Given the description of an element on the screen output the (x, y) to click on. 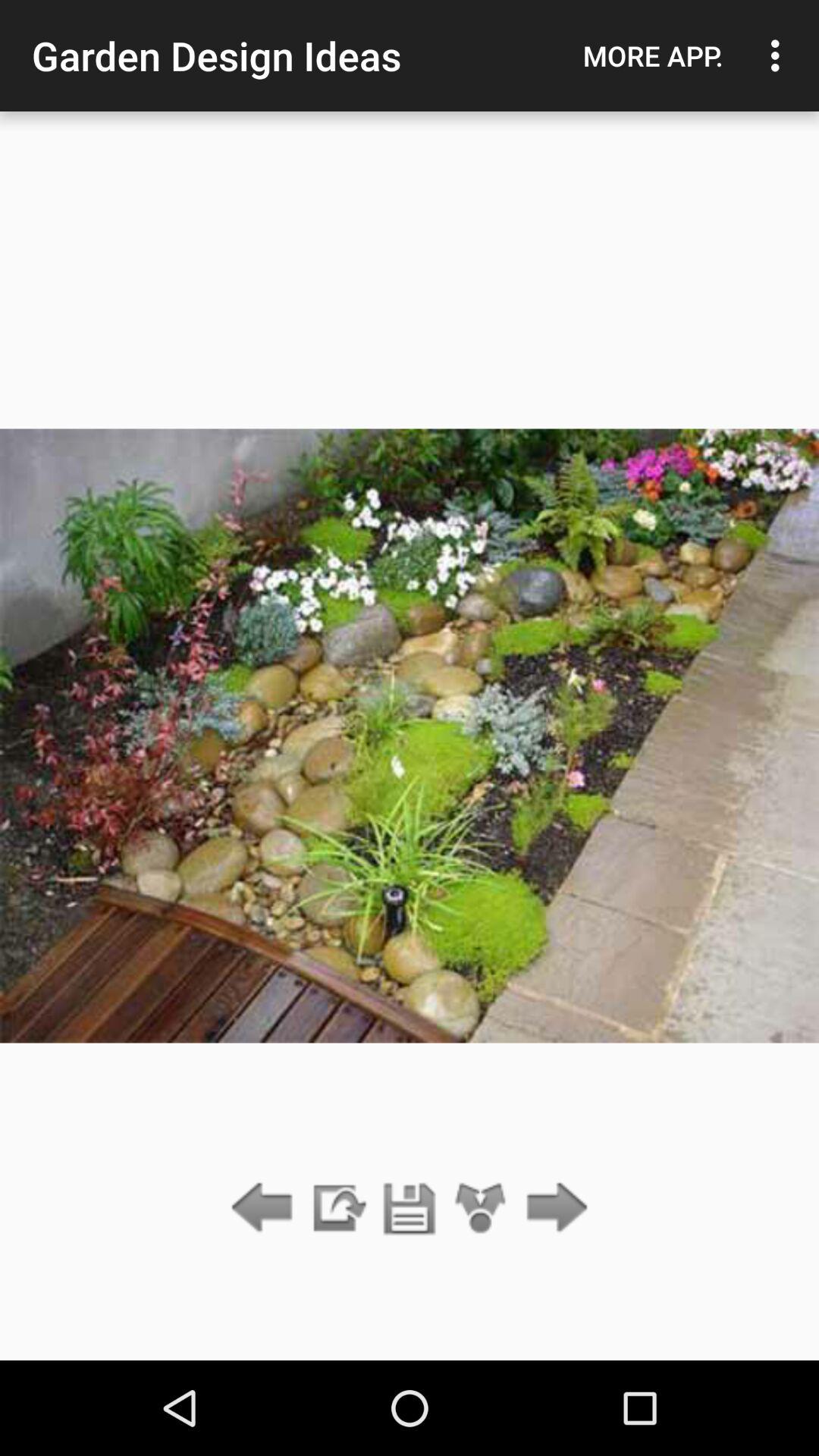
click item next to more app. icon (779, 55)
